Given the description of an element on the screen output the (x, y) to click on. 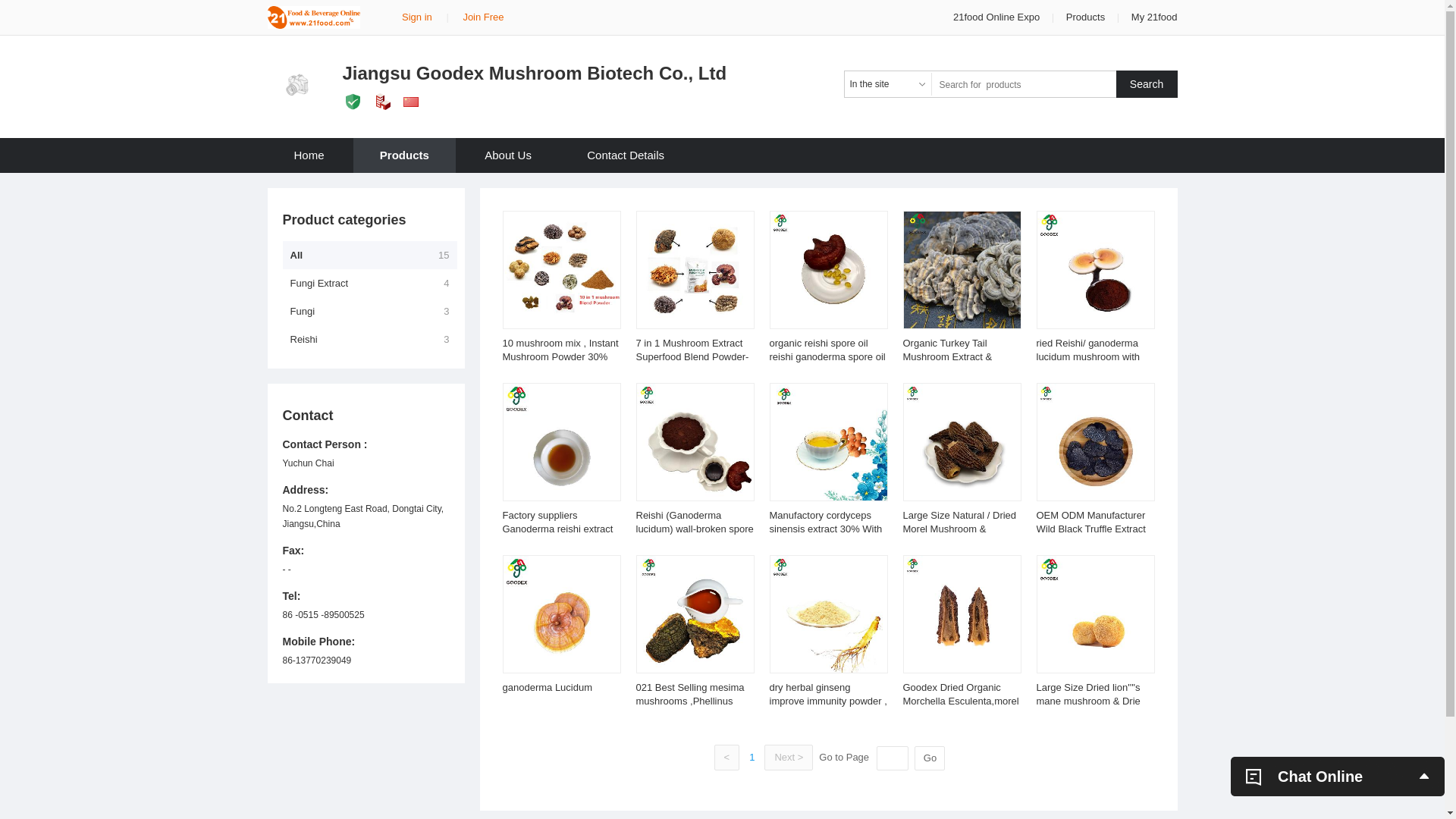
Goodex Dried Organic Morchella Esculenta,morel mushroom Element type: text (960, 700)
21food Online Expo Element type: text (997, 16)
Contact Details Element type: text (625, 155)
ried Reishi/ ganoderma lucidum mushroom with high quality Element type: text (1087, 356)
organic reishi spore oil reishi ganoderma spore oil Element type: text (826, 349)
About Us Element type: text (508, 155)
Products Element type: text (1085, 16)
ganoderma Lucidum Element type: text (547, 687)
Go Element type: text (929, 758)
Join Free Element type: text (482, 16)
dry herbal ginseng improve immunity powder , ginseng Element type: text (827, 700)
Sign in Element type: text (416, 16)
Search Element type: text (1146, 83)
10 mushroom mix , Instant Mushroom Powder 30% Beta D Glucan Element type: text (560, 356)
My 21food Element type: text (1154, 16)
Products Element type: text (404, 155)
Home Element type: text (308, 155)
